Given the description of an element on the screen output the (x, y) to click on. 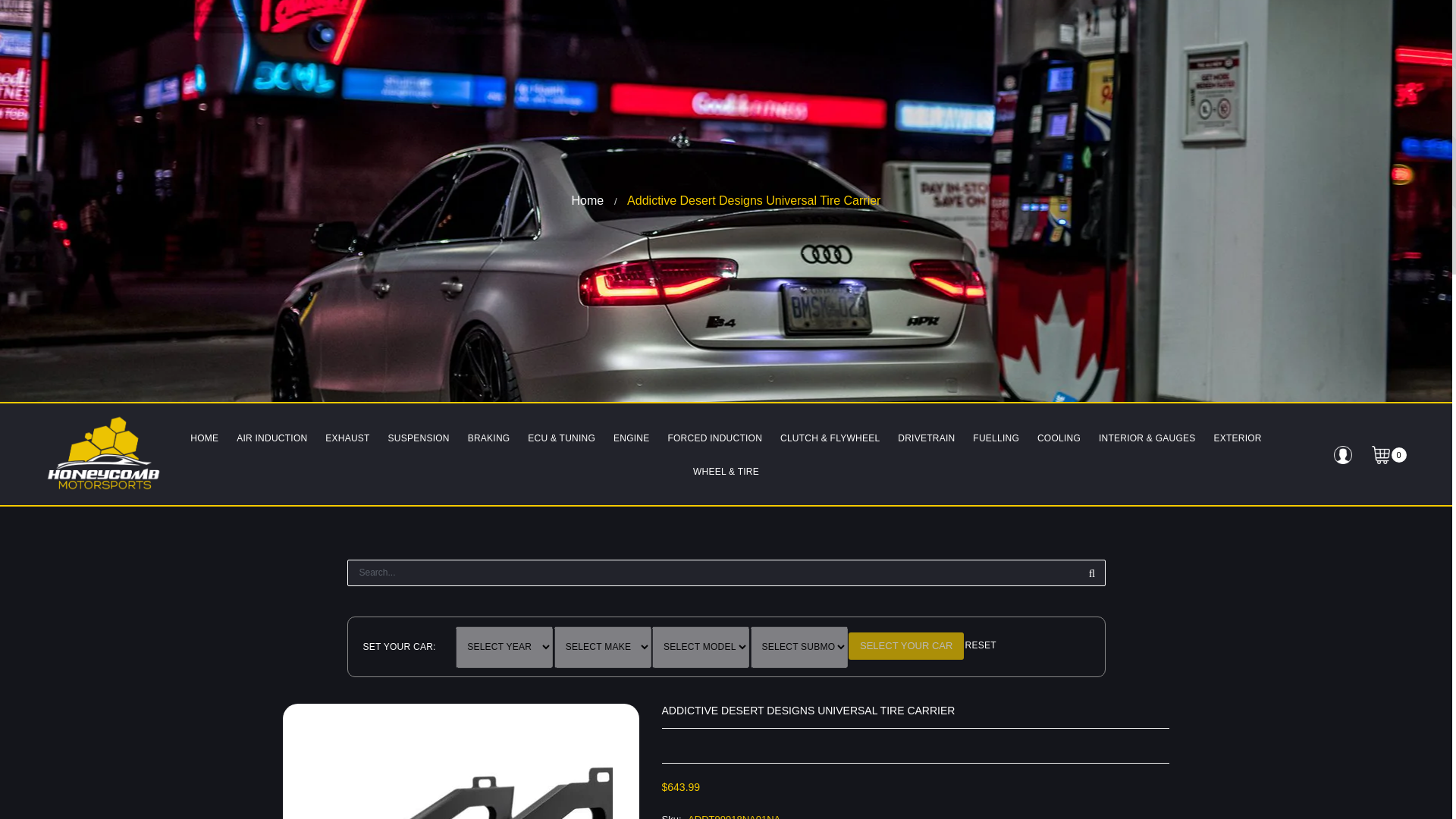
AIR INDUCTION (271, 438)
Addictive Desert Designs Universal Tire Carrier (460, 761)
DRIVETRAIN (925, 438)
EXTERIOR (1236, 438)
HOME (204, 438)
Addictive Desert Designs Universal Tire Carrier (753, 200)
BRAKING (489, 438)
COOLING (1058, 438)
ENGINE (631, 438)
FUELLING (995, 438)
FORCED INDUCTION (714, 438)
EXHAUST (347, 438)
Home (588, 200)
SUSPENSION (418, 438)
Back to the frontpage (588, 200)
